Given the description of an element on the screen output the (x, y) to click on. 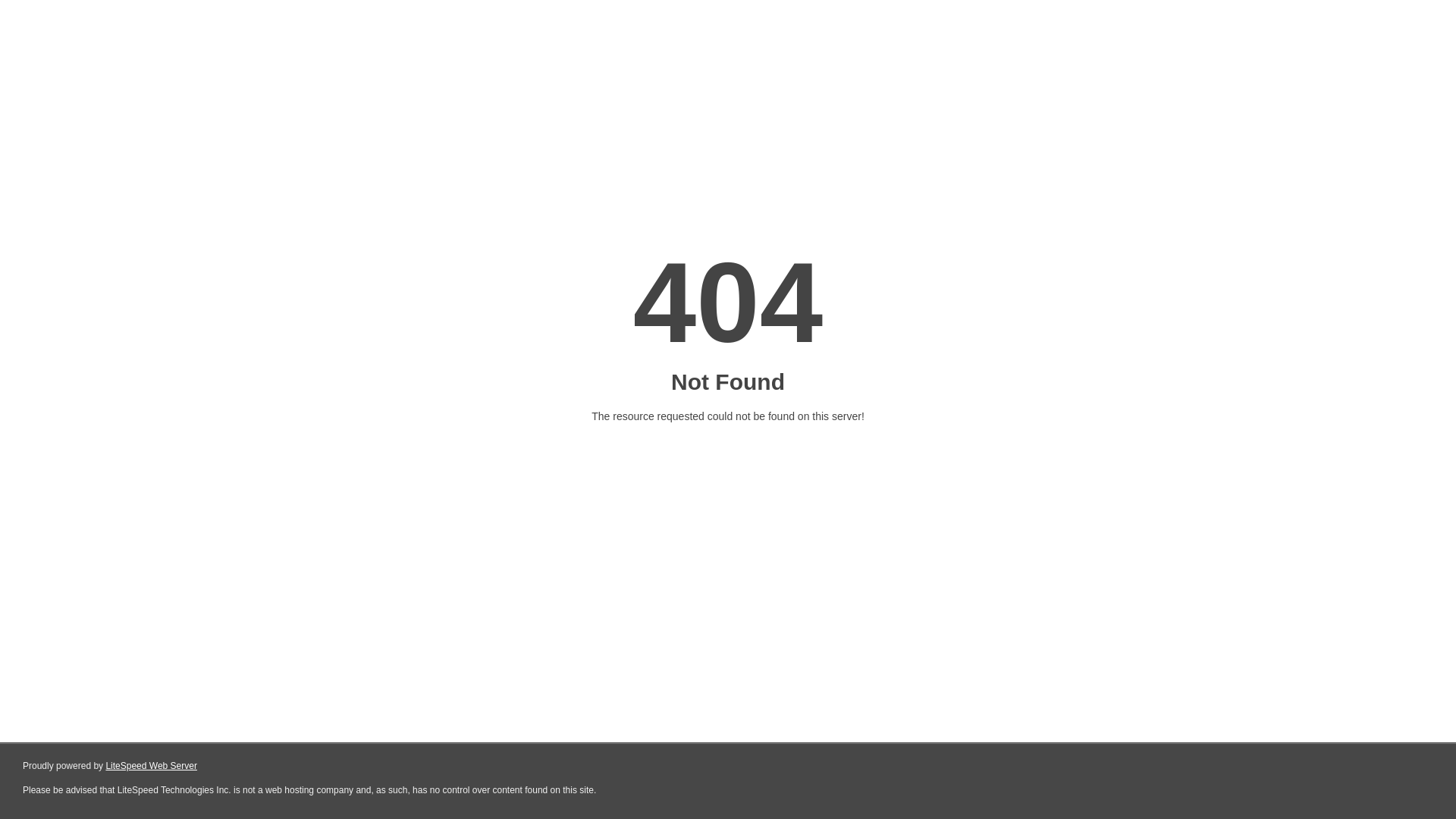
LiteSpeed Web Server Element type: text (151, 765)
